Given the description of an element on the screen output the (x, y) to click on. 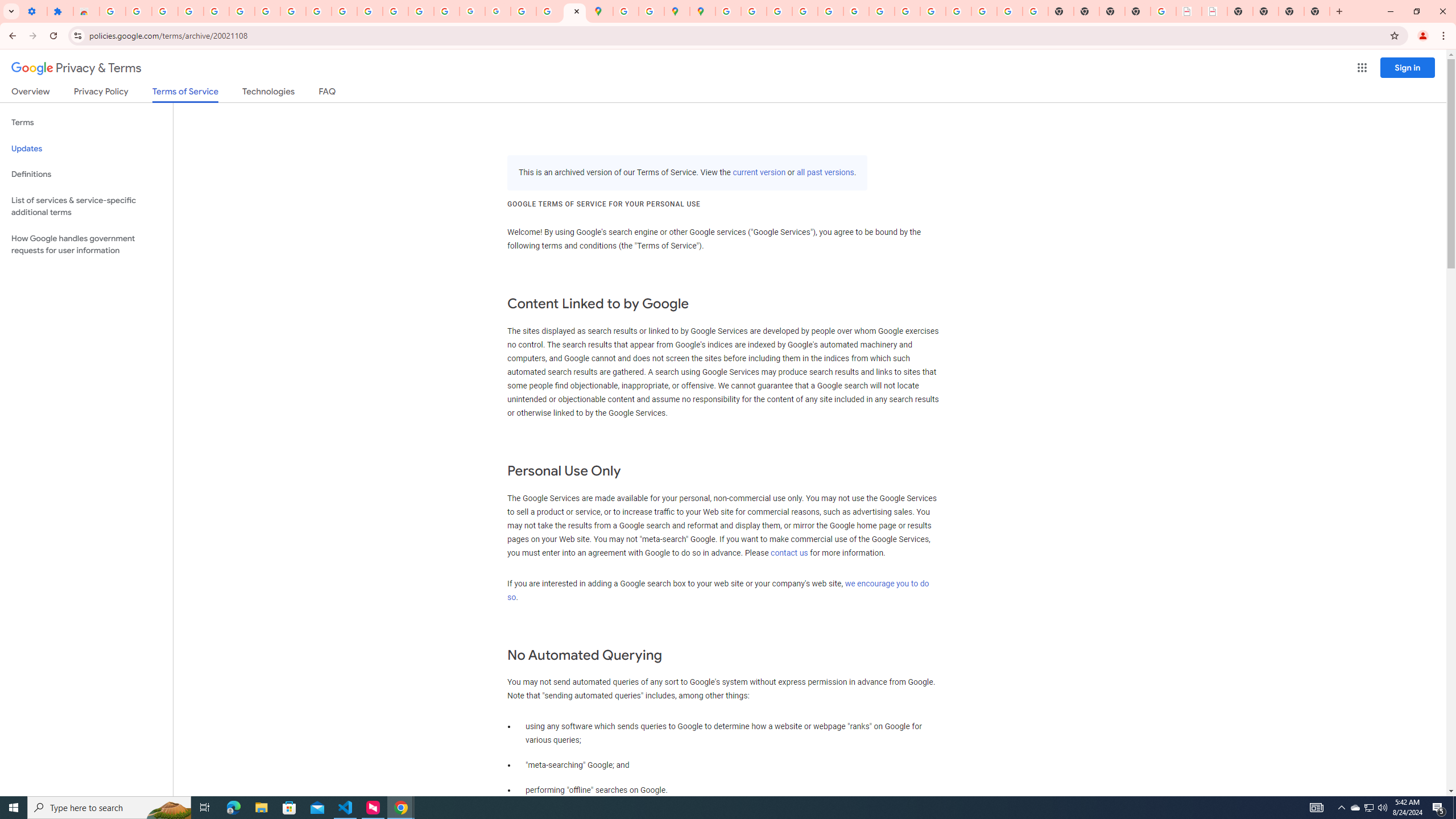
Updates (86, 148)
